Given the description of an element on the screen output the (x, y) to click on. 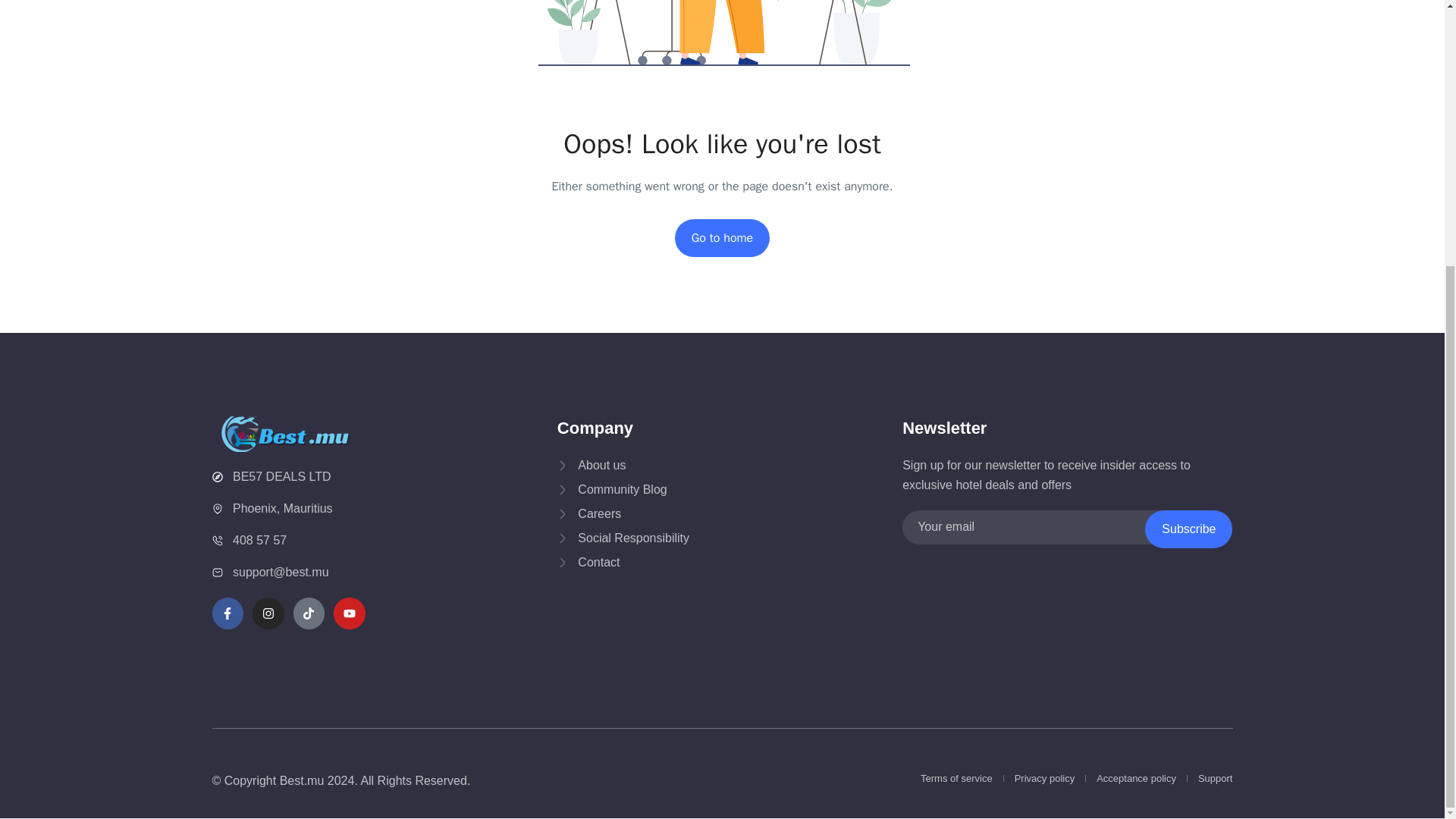
Privacy policy (1044, 778)
Contact (651, 562)
Go to home (722, 238)
Subscribe (1187, 528)
Careers (651, 514)
Community Blog (651, 489)
About us (651, 465)
408 57 57 (306, 540)
Support (1215, 778)
Terms of service (956, 778)
Social Responsibility (651, 537)
Acceptance policy (1136, 778)
